Given the description of an element on the screen output the (x, y) to click on. 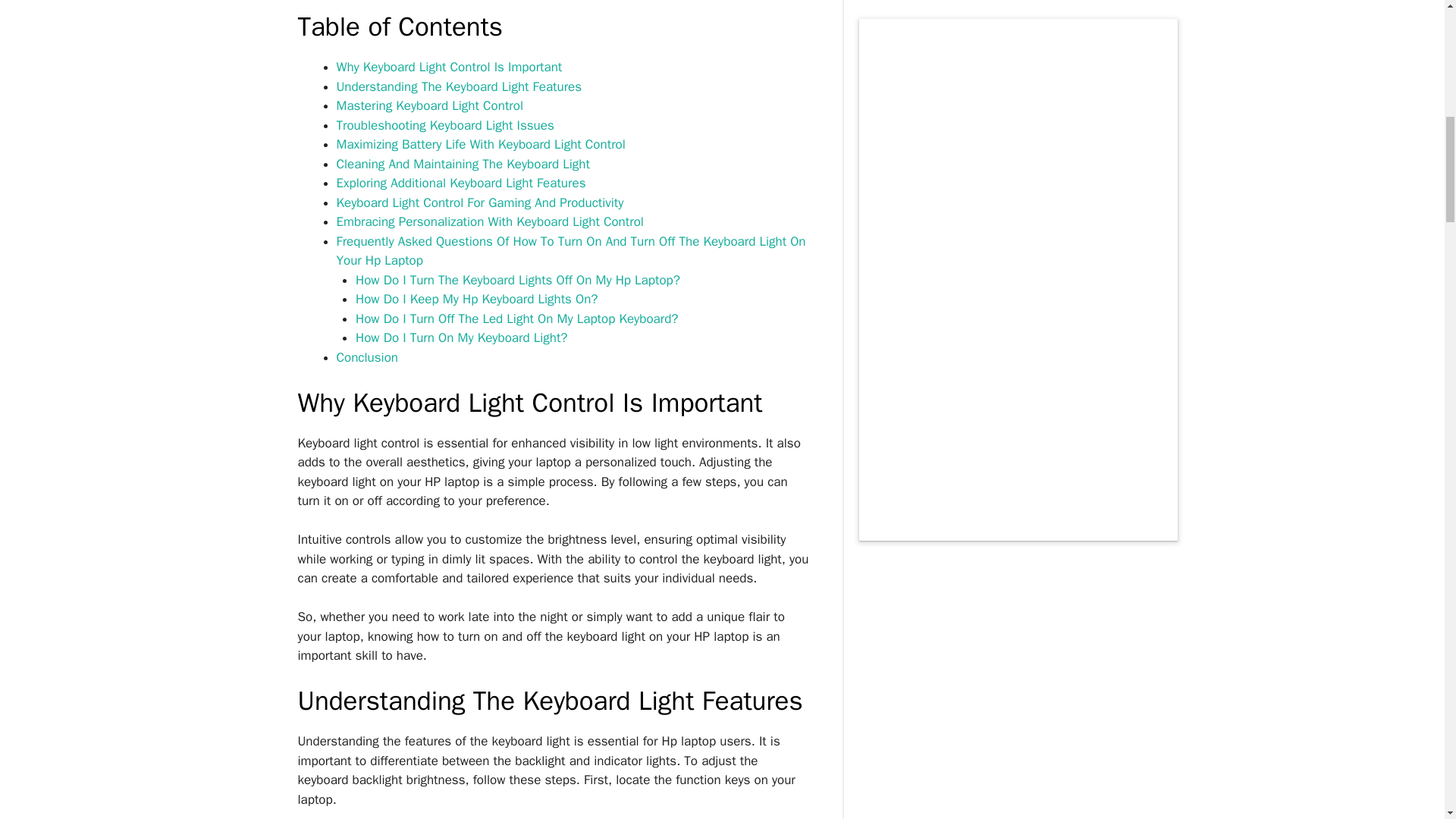
Exploring Additional Keyboard Light Features (461, 182)
How Do I Keep My Hp Keyboard Lights On? (476, 299)
Embracing Personalization With Keyboard Light Control (489, 221)
Maximizing Battery Life With Keyboard Light Control (481, 144)
Troubleshooting Keyboard Light Issues (445, 125)
Conclusion (366, 357)
Understanding The Keyboard Light Features (459, 86)
Keyboard Light Control For Gaming And Productivity (480, 202)
Why Keyboard Light Control Is Important (449, 66)
